Given the description of an element on the screen output the (x, y) to click on. 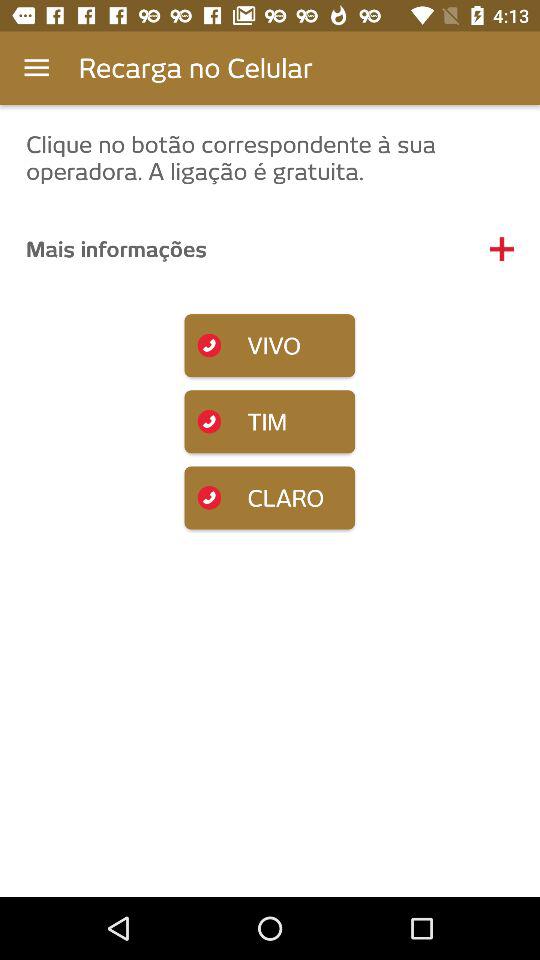
launch the icon next to the recarga no celular item (36, 68)
